Given the description of an element on the screen output the (x, y) to click on. 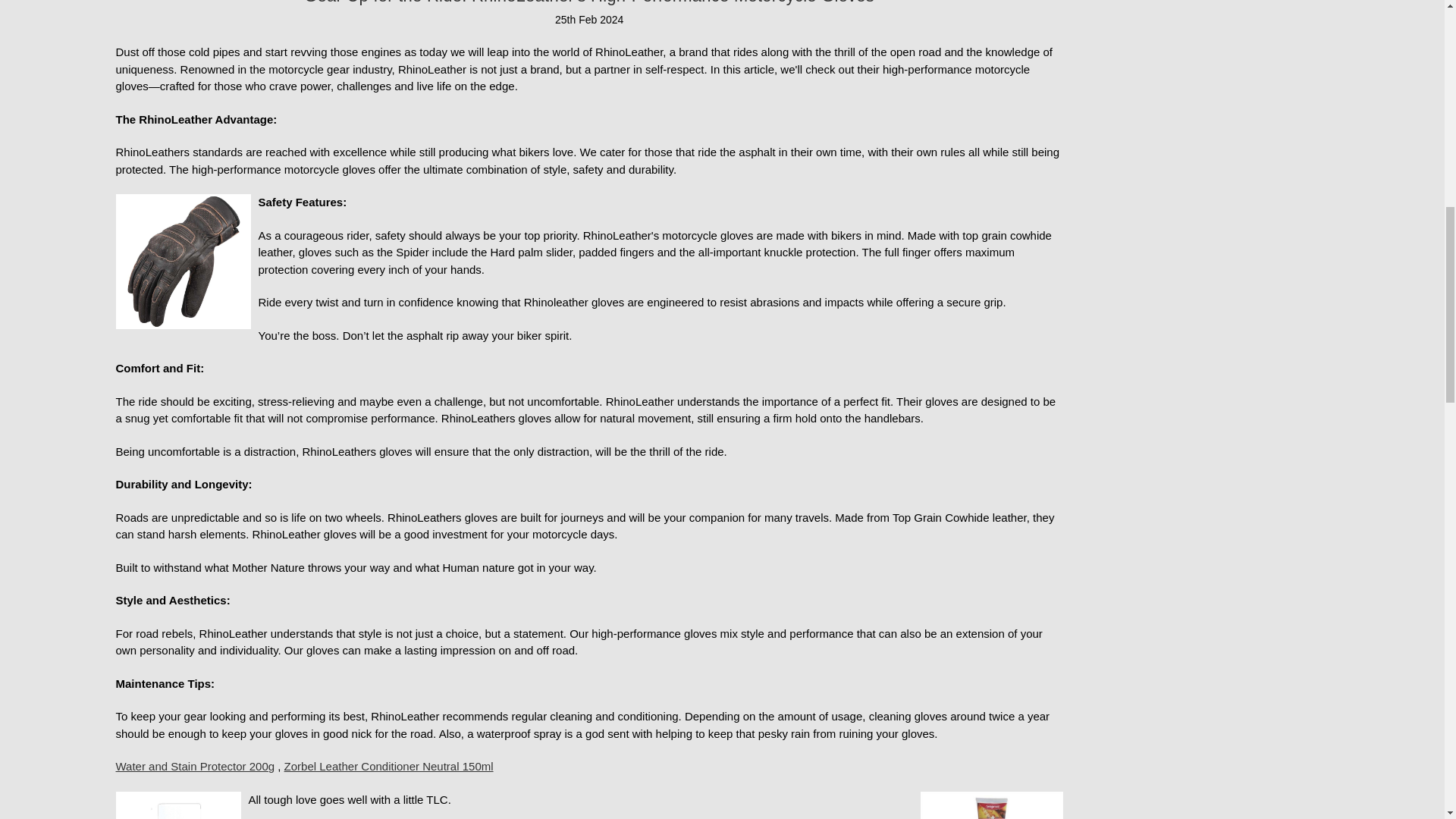
Water and Stain Protector 200g (177, 805)
Zorbel Leather Conditioner Neutral 150ml (991, 805)
